Given the description of an element on the screen output the (x, y) to click on. 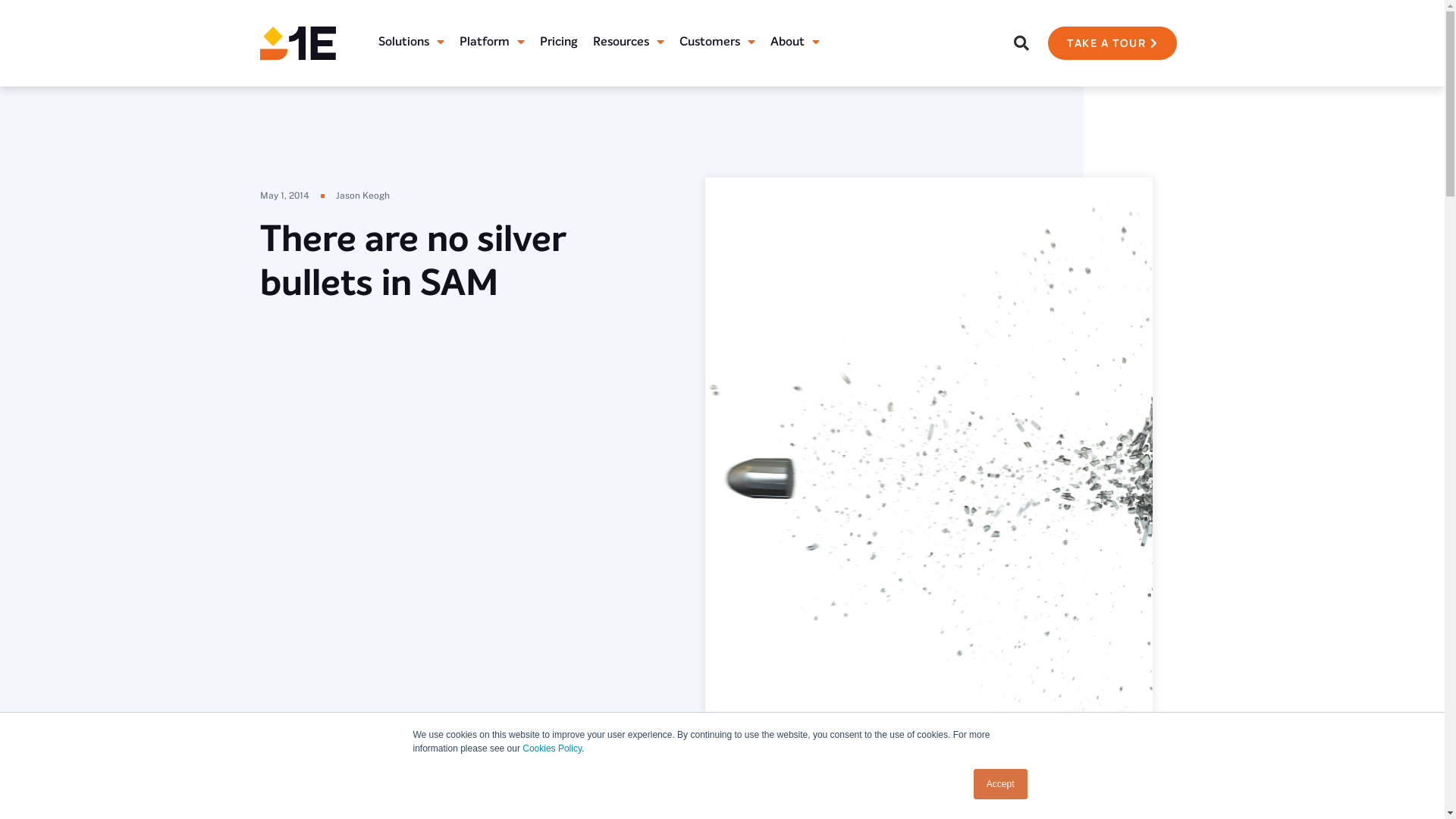
Cookies Policy Element type: text (551, 748)
Platform Element type: text (491, 43)
Resources Element type: text (628, 43)
About Element type: text (794, 43)
Customers Element type: text (717, 43)
TAKE A TOUR Element type: text (1112, 42)
Accept Element type: text (1000, 783)
Pricing Element type: text (558, 43)
Solutions Element type: text (411, 43)
Jason Keogh Element type: text (362, 195)
